Given the description of an element on the screen output the (x, y) to click on. 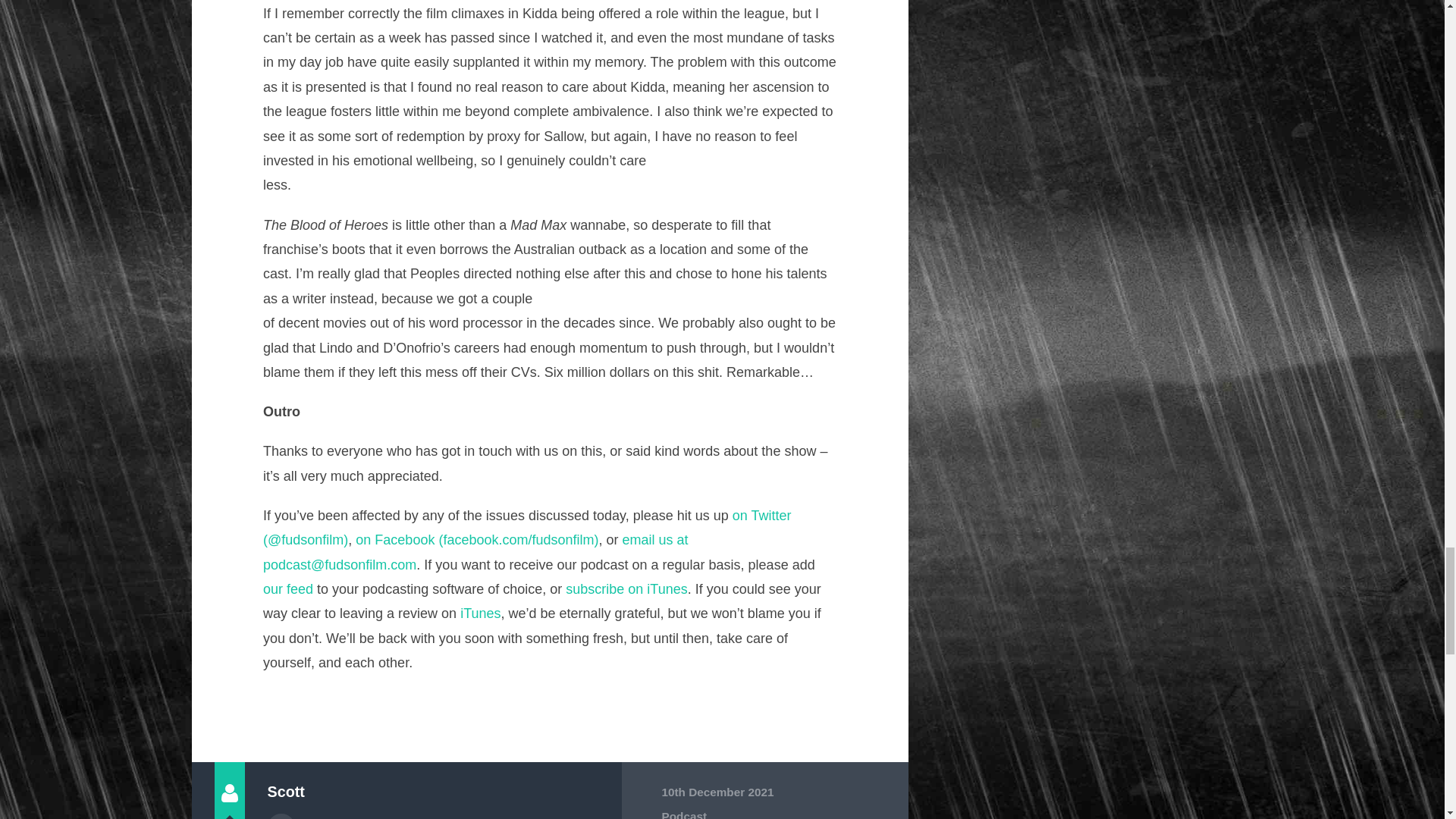
iTunes (480, 613)
Podcast (683, 814)
Author archive (280, 816)
subscribe on iTunes (626, 589)
our feed (288, 589)
